Given the description of an element on the screen output the (x, y) to click on. 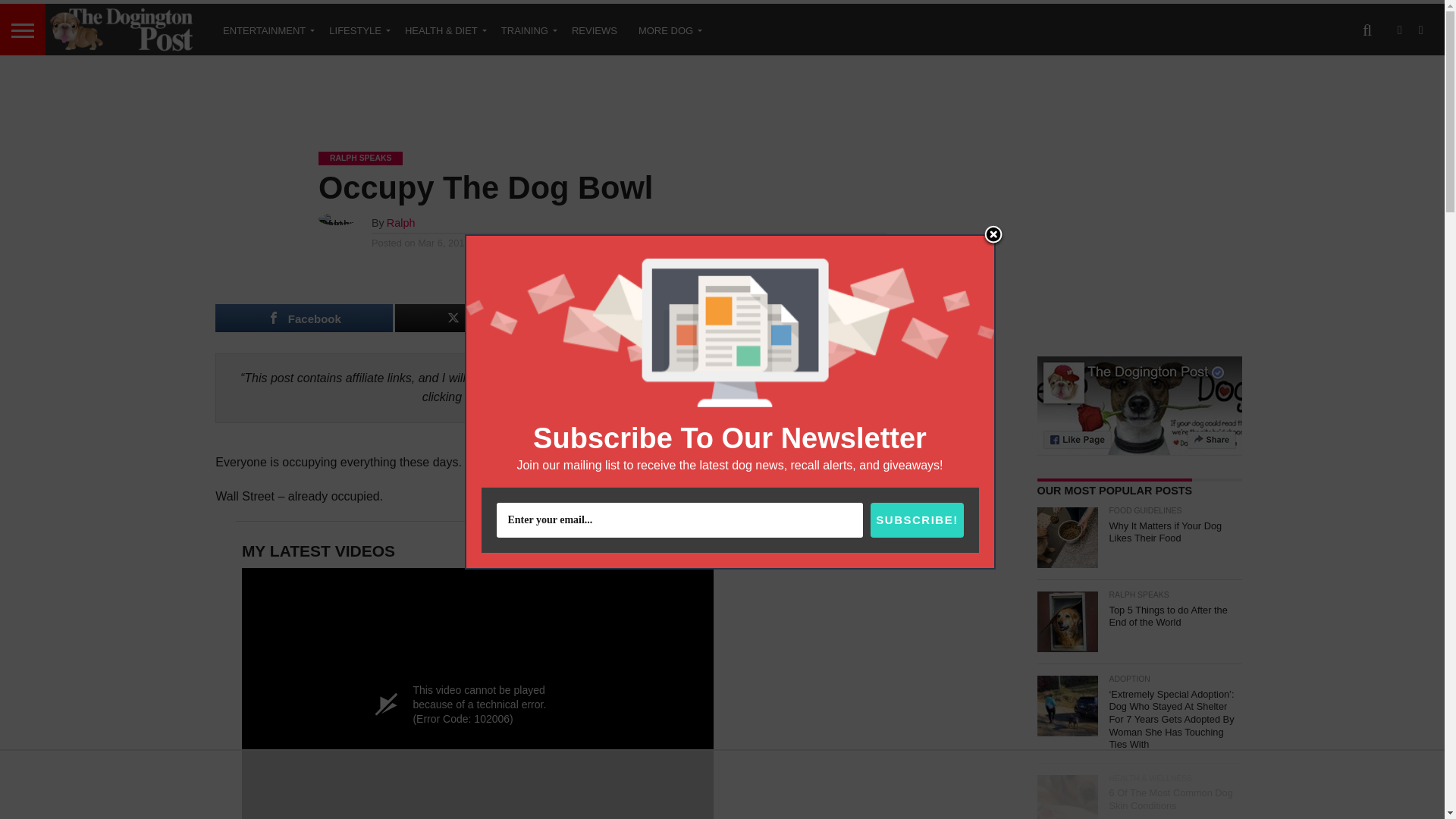
Ralph-Ava-Head125Wb (694, 489)
SUBSCRIBE! (916, 519)
Posts by Ralph (400, 223)
